Given the description of an element on the screen output the (x, y) to click on. 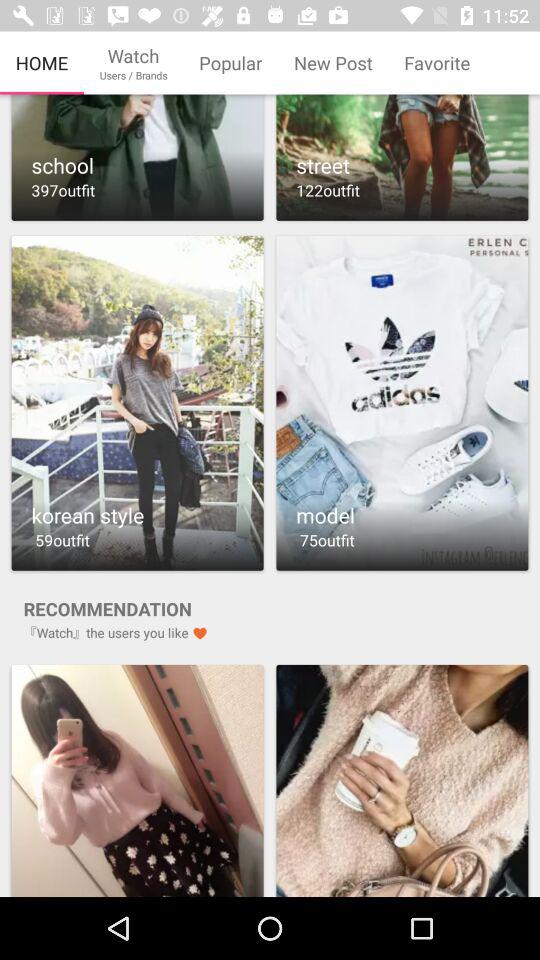
select the first image which is below home (137, 160)
click on the image representing model 75outfit (401, 403)
select the image which is above erlen on the page (401, 158)
select the first image which is under the recommendation (137, 778)
